Given the description of an element on the screen output the (x, y) to click on. 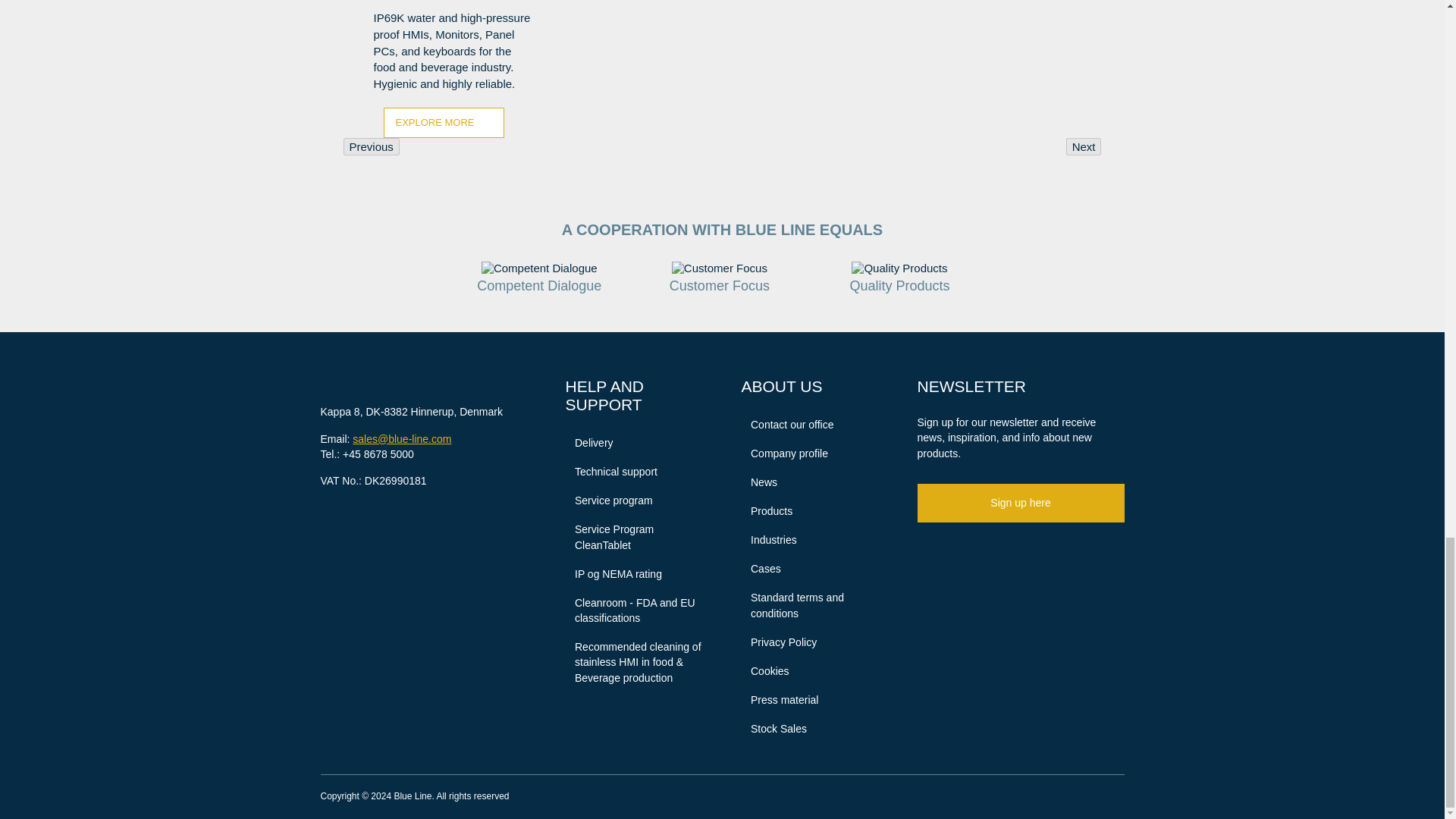
Stock sales (773, 728)
Technical support (612, 471)
Kontakt os (787, 424)
Cleanroom - FDA og EU klassifikationer (634, 610)
Products (767, 510)
Privacy Policy (778, 642)
Service program (609, 500)
Nyheder (759, 482)
Company profile (784, 453)
Cases (760, 568)
